Given the description of an element on the screen output the (x, y) to click on. 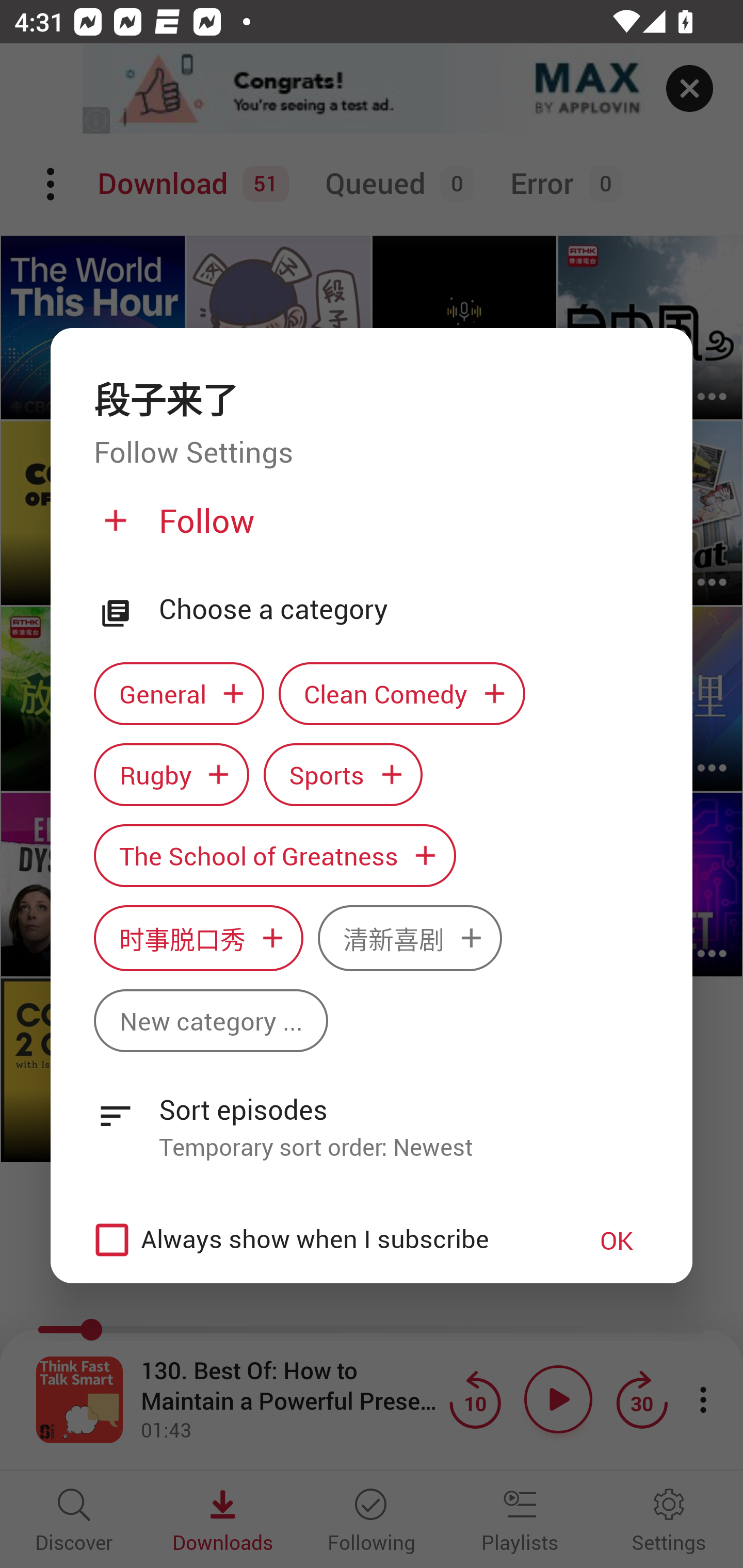
Follow (369, 528)
Choose a category (404, 609)
General (178, 692)
Clean Comedy (401, 692)
Rugby (170, 774)
Sports (342, 774)
The School of Greatness (274, 855)
时事脱口秀 (198, 937)
清新喜剧 (410, 937)
New category ... (210, 1020)
Sort episodes Temporary sort order: Newest (371, 1117)
OK (616, 1239)
Always show when I subscribe (320, 1239)
